Given the description of an element on the screen output the (x, y) to click on. 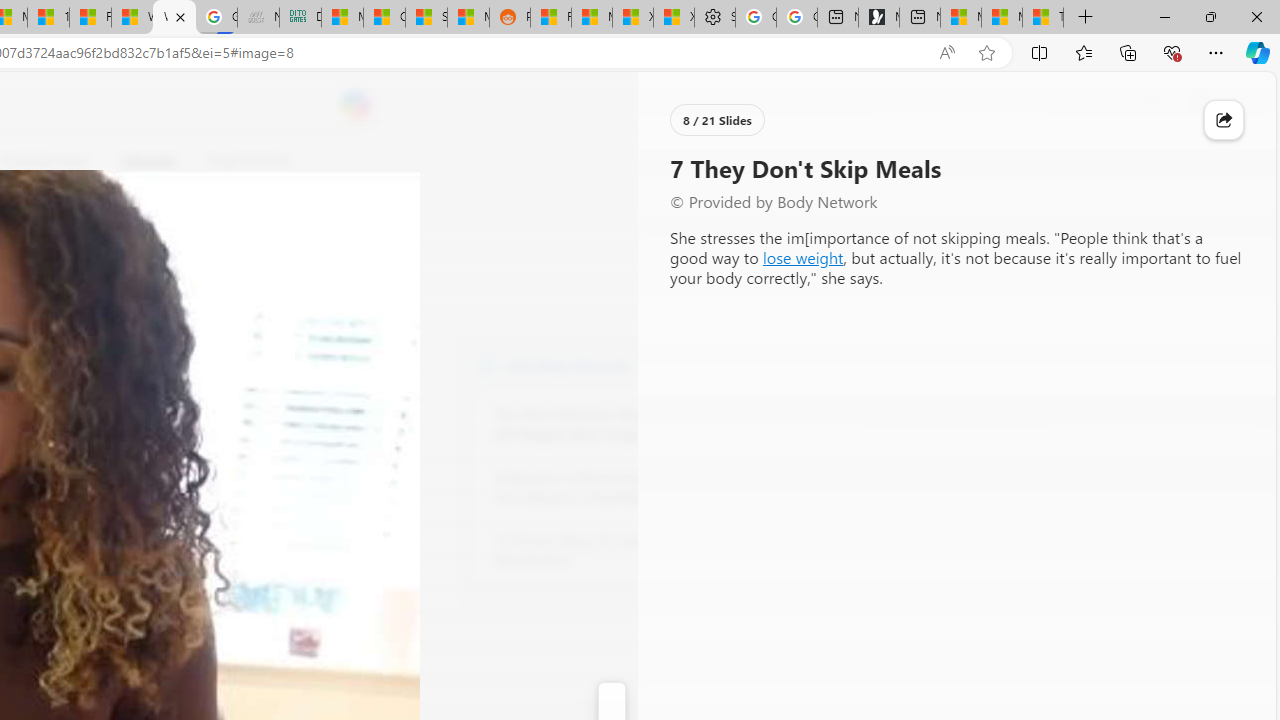
Share this story (1224, 119)
Personalize (711, 162)
Microsoft rewards (1151, 105)
Favorites (1083, 52)
Visit Body Network website (733, 364)
Restore (1210, 16)
MSN (468, 17)
Settings and more (Alt+F) (1215, 52)
Minimize (1164, 16)
12 Proven Ways To Increase Your Metabolism (603, 550)
